Given the description of an element on the screen output the (x, y) to click on. 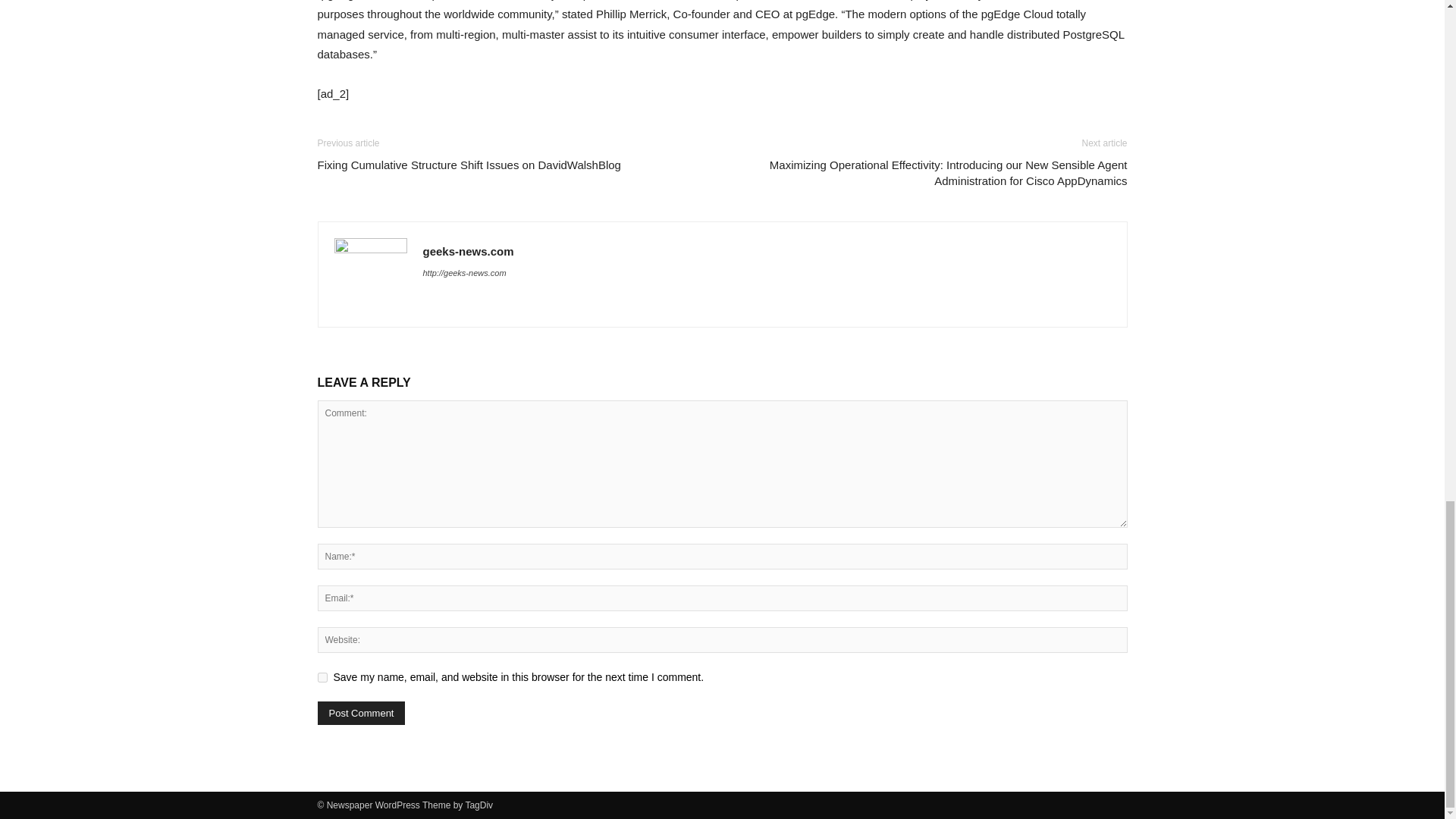
yes (321, 677)
geeks-news.com (468, 250)
Fixing Cumulative Structure Shift Issues on DavidWalshBlog (468, 164)
Post Comment (360, 712)
Post Comment (360, 712)
